Given the description of an element on the screen output the (x, y) to click on. 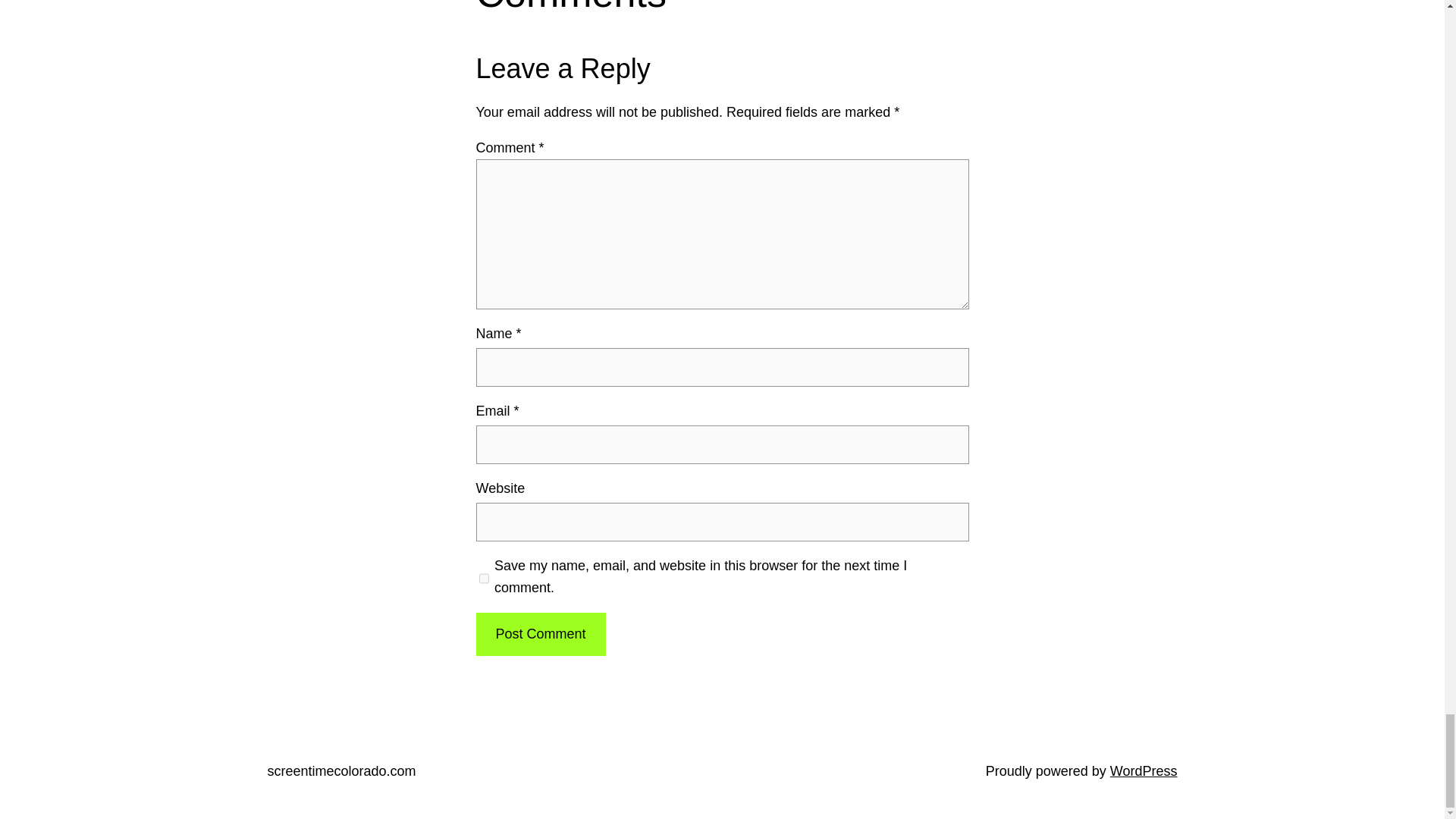
WordPress (1143, 770)
Post Comment (540, 634)
screentimecolorado.com (340, 770)
Post Comment (540, 634)
